Given the description of an element on the screen output the (x, y) to click on. 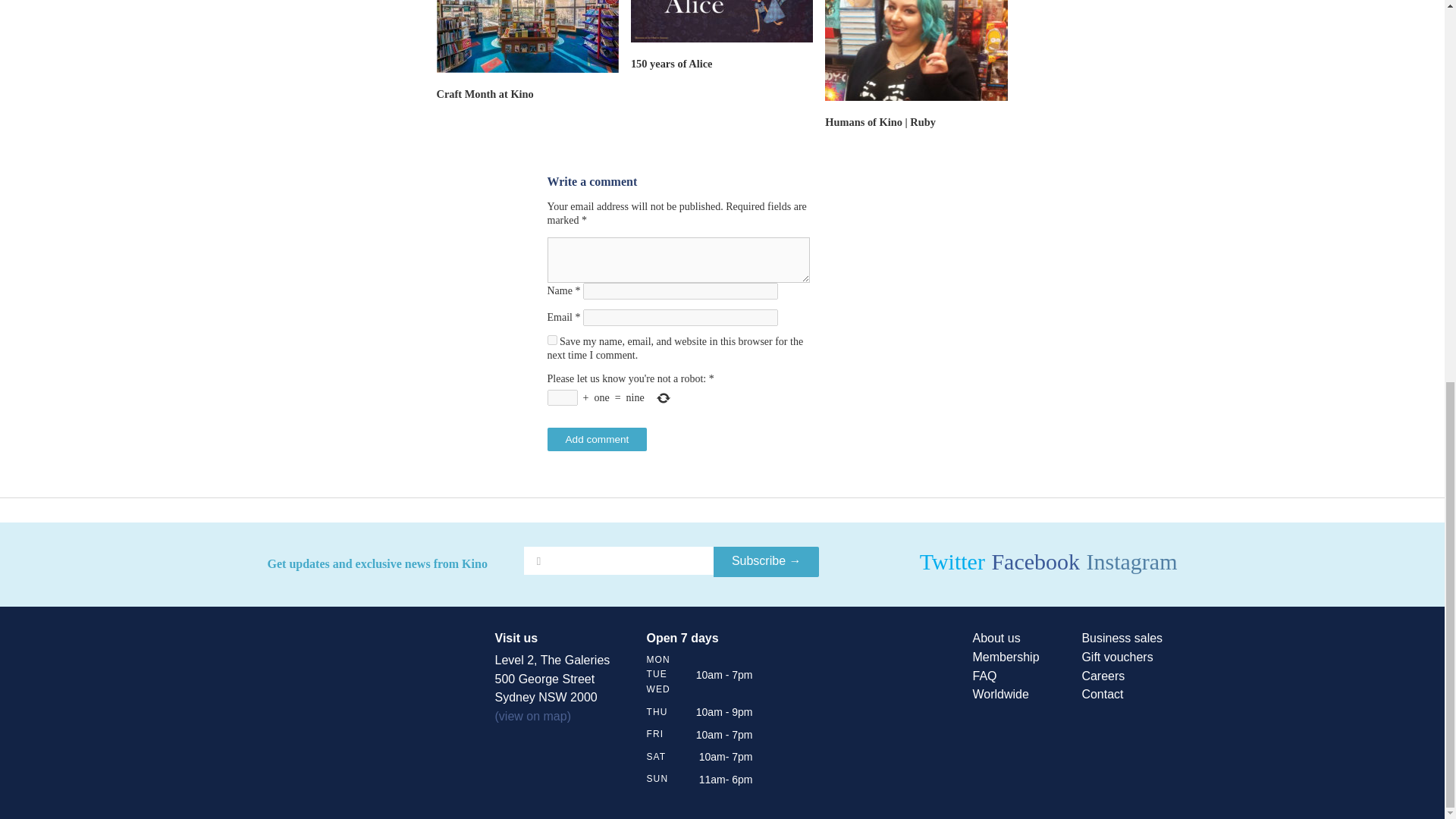
150 years of Alice (671, 63)
yes (552, 339)
Craft Month at Kino (485, 93)
Craft Month at Kino (485, 93)
Add comment (597, 439)
